Given the description of an element on the screen output the (x, y) to click on. 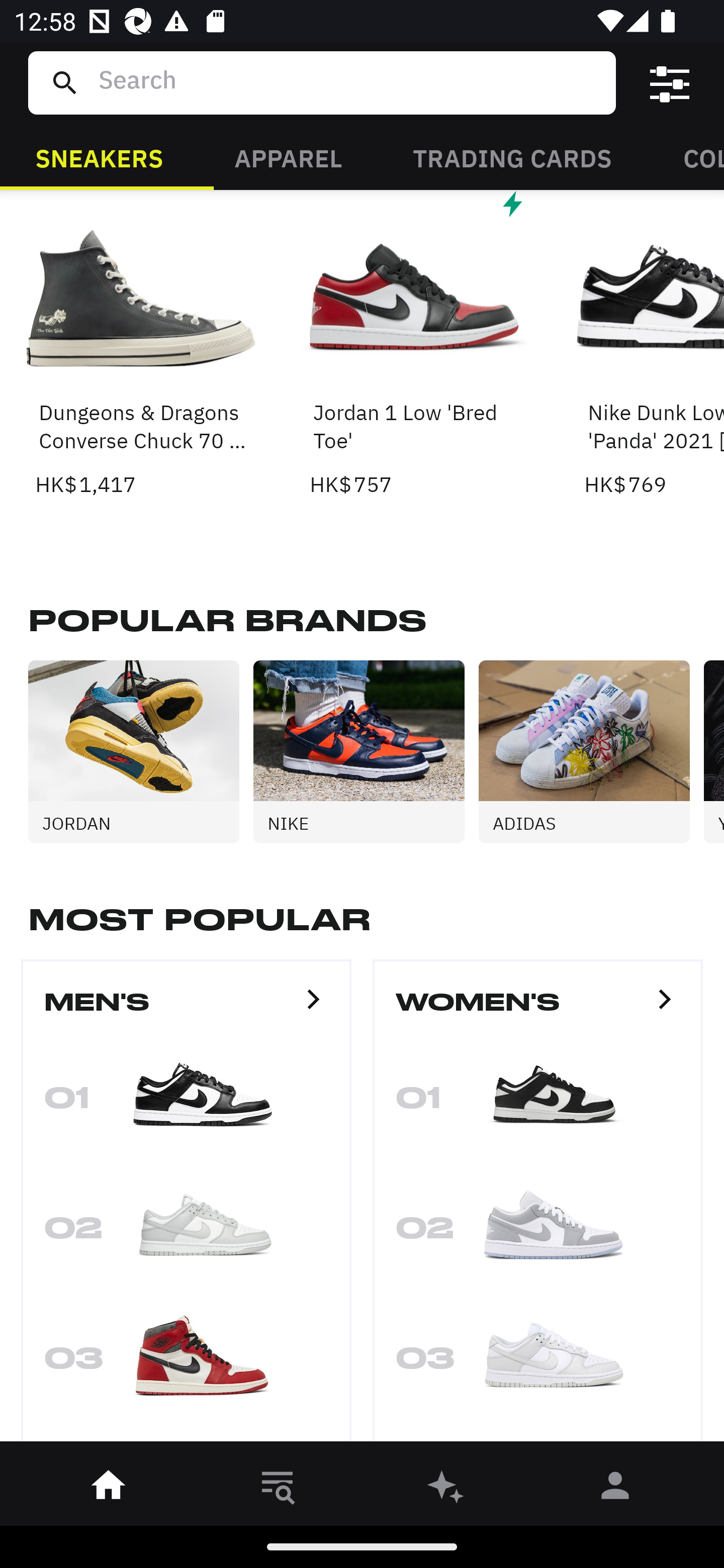
Search (349, 82)
 (669, 82)
SNEAKERS (99, 156)
APPAREL (287, 156)
TRADING CARDS (512, 156)
 Jordan 1 Low 'Bred Toe' HK$ 757 (414, 345)
JORDAN (140, 751)
NIKE (365, 751)
ADIDAS (590, 751)
MEN'S  (186, 1010)
WOMEN'S  (538, 1010)
01 (186, 1103)
01 (538, 1103)
02 (186, 1234)
02 (538, 1234)
03 (186, 1364)
03 (538, 1364)
󰋜 (108, 1488)
󱎸 (277, 1488)
󰫢 (446, 1488)
󰀄 (615, 1488)
